Given the description of an element on the screen output the (x, y) to click on. 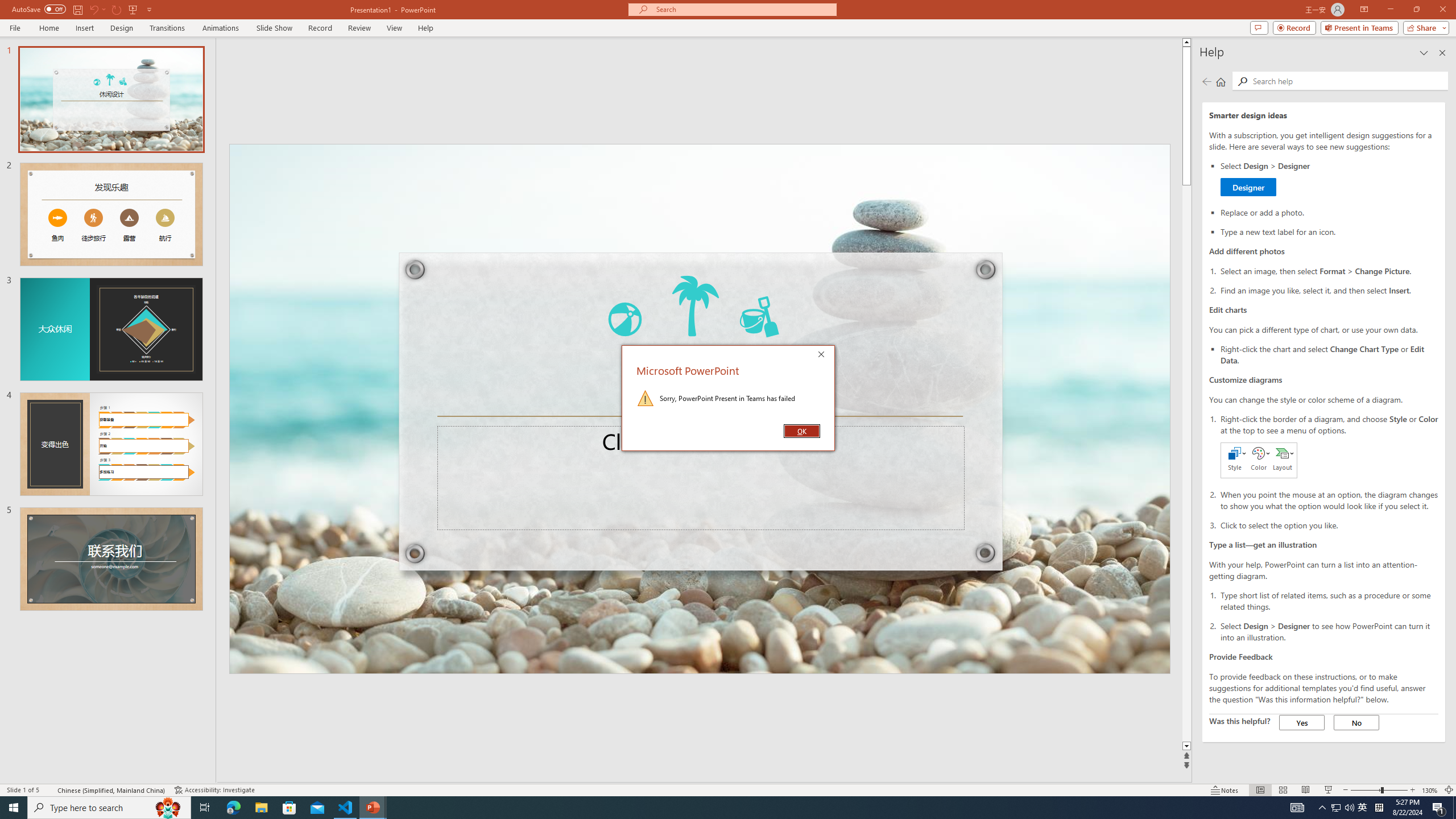
Zoom 130% (1430, 790)
